Given the description of an element on the screen output the (x, y) to click on. 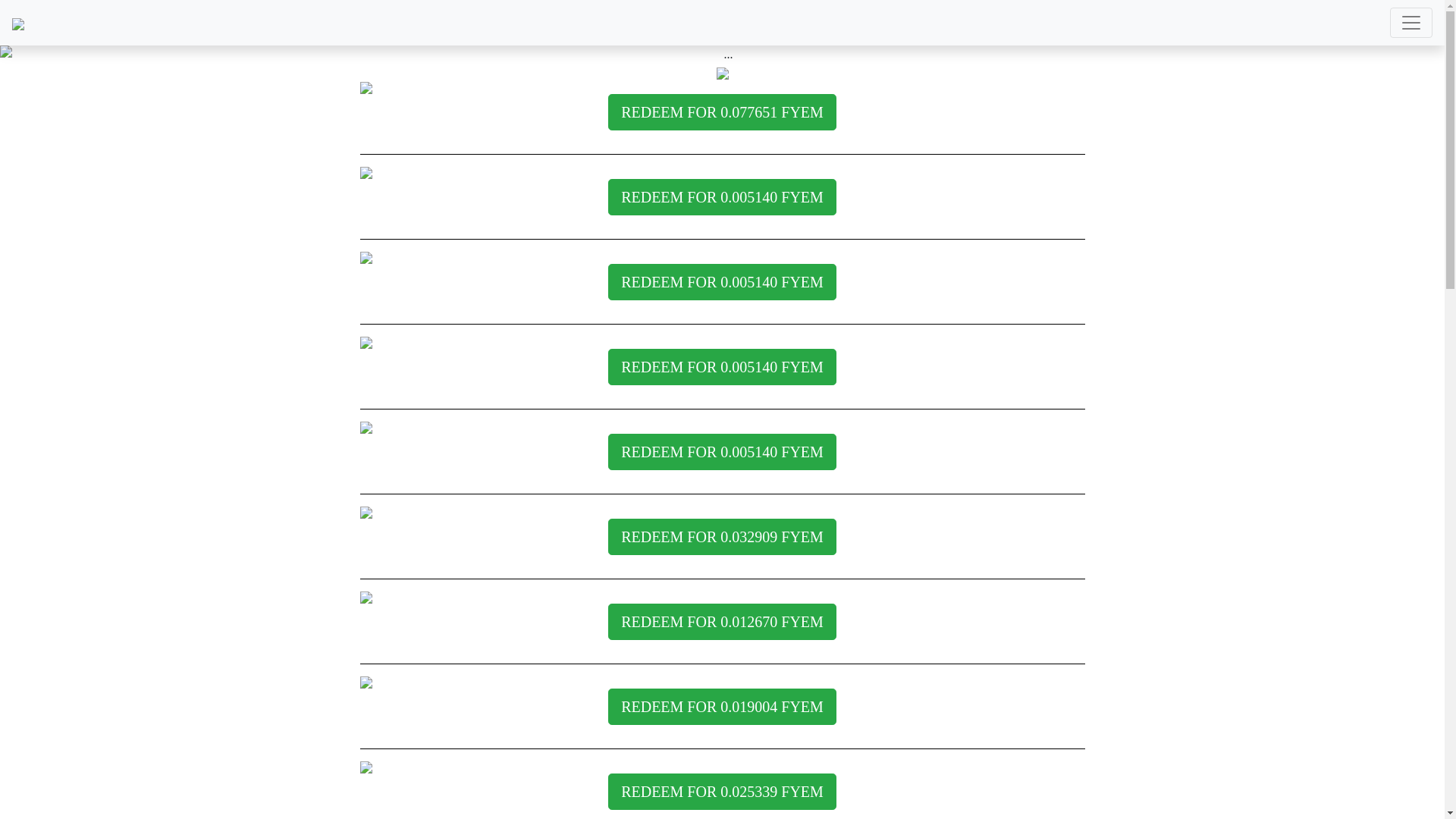
REDEEM FOR 0.005140 FYEM Element type: text (722, 196)
REDEEM FOR 0.005140 FYEM Element type: text (722, 285)
REDEEM FOR 0.077651 FYEM Element type: text (722, 115)
REDEEM FOR 0.005140 FYEM Element type: text (722, 451)
REDEEM FOR 0.005140 FYEM Element type: text (722, 200)
REDEEM FOR 0.025339 FYEM Element type: text (722, 795)
REDEEM FOR 0.025339 FYEM Element type: text (722, 791)
REDEEM FOR 0.077651 FYEM Element type: text (722, 112)
REDEEM FOR 0.032909 FYEM Element type: text (722, 540)
REDEEM FOR 0.005140 FYEM Element type: text (722, 281)
REDEEM FOR 0.005140 FYEM Element type: text (722, 366)
REDEEM FOR 0.019004 FYEM Element type: text (722, 706)
REDEEM FOR 0.005140 FYEM Element type: text (722, 370)
REDEEM FOR 0.019004 FYEM Element type: text (722, 710)
REDEEM FOR 0.032909 FYEM Element type: text (722, 536)
REDEEM FOR 0.005140 FYEM Element type: text (722, 455)
REDEEM FOR 0.012670 FYEM Element type: text (722, 621)
REDEEM FOR 0.012670 FYEM Element type: text (722, 625)
